Given the description of an element on the screen output the (x, y) to click on. 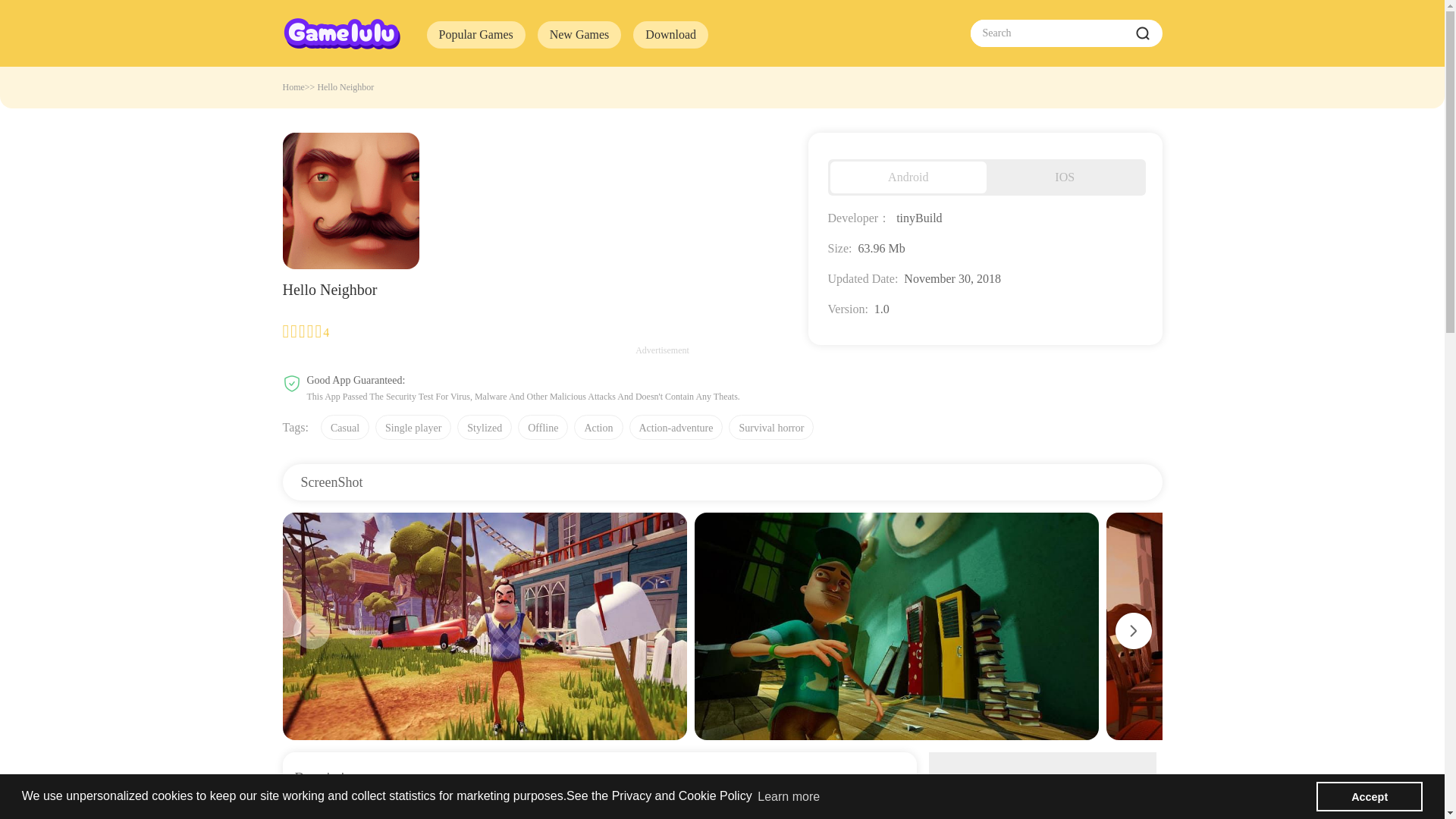
Offline (542, 426)
Single player (413, 426)
Android (908, 177)
Home (293, 86)
Download (670, 34)
Popular Games (475, 34)
Accept (1369, 797)
Survival horror (771, 426)
Action-adventure (675, 426)
Learn more (788, 795)
